Given the description of an element on the screen output the (x, y) to click on. 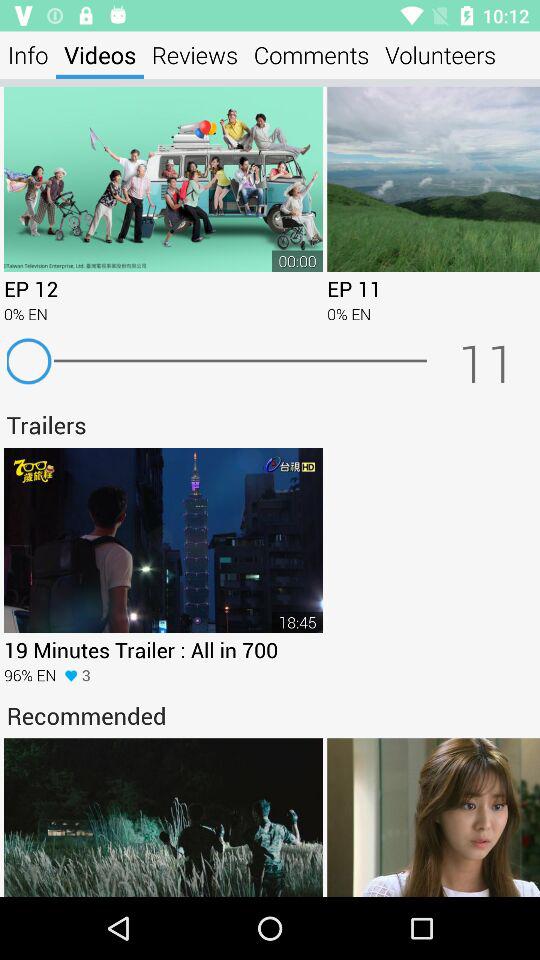
open icon to the right of the comments app (440, 54)
